Given the description of an element on the screen output the (x, y) to click on. 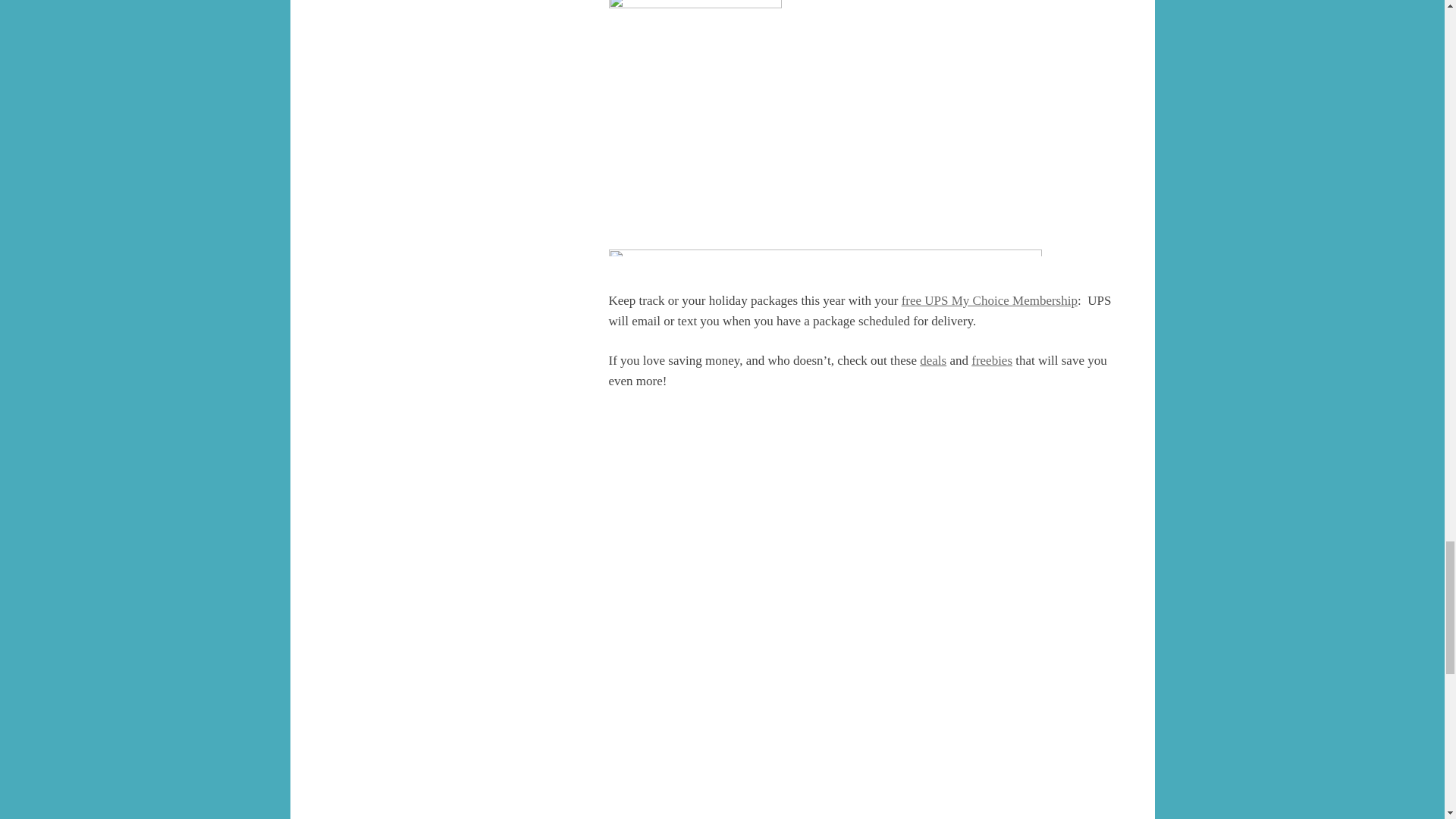
deals (933, 359)
free UPS My Choice Membership (989, 300)
freebies (991, 359)
